Given the description of an element on the screen output the (x, y) to click on. 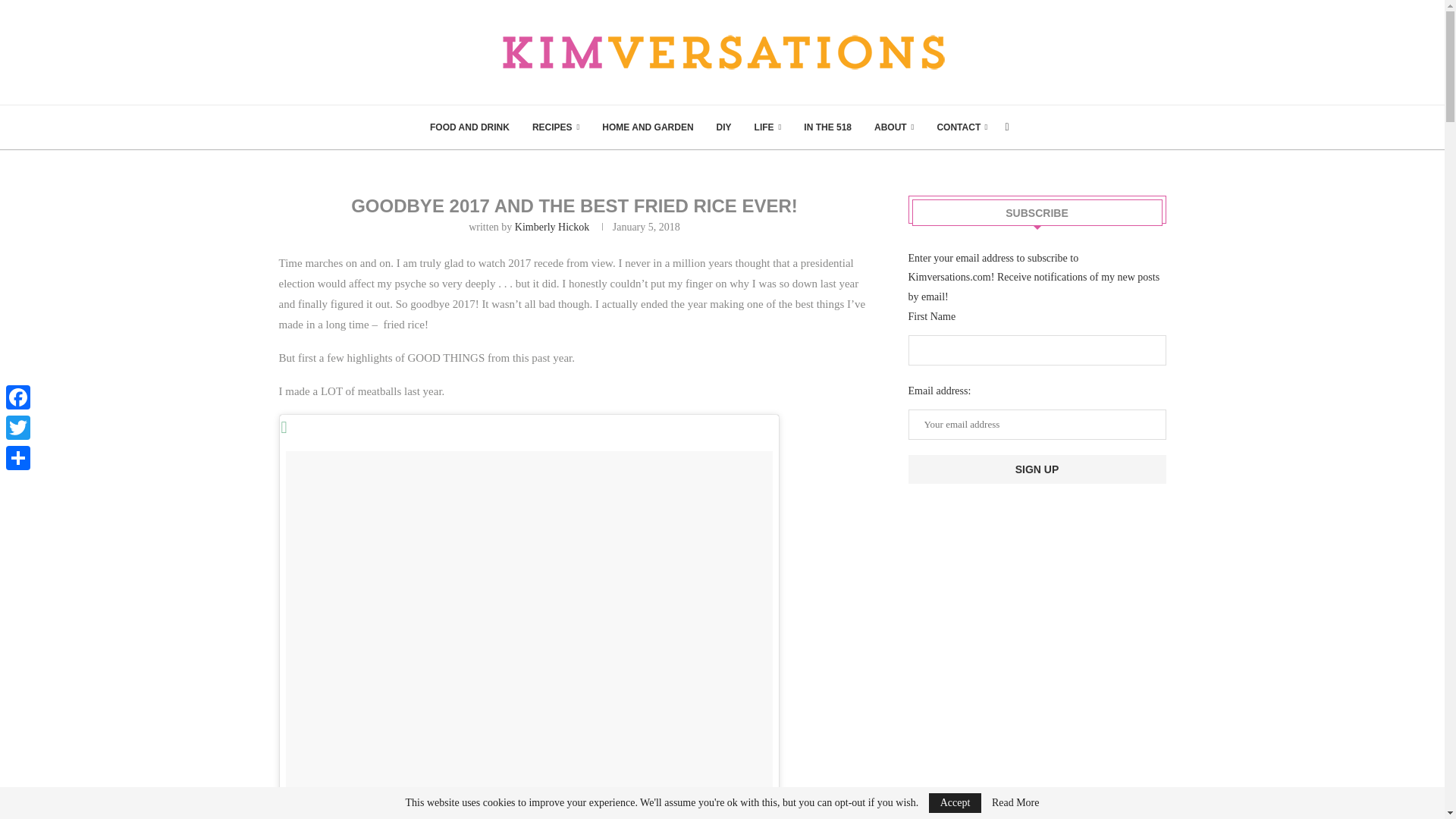
ABOUT (894, 127)
IN THE 518 (827, 127)
FOOD AND DRINK (469, 127)
Kimberly Hickok (552, 226)
RECIPES (555, 127)
Twitter (17, 427)
HOME AND GARDEN (647, 127)
Facebook (17, 397)
Sign up (1037, 469)
CONTACT (962, 127)
